Given the description of an element on the screen output the (x, y) to click on. 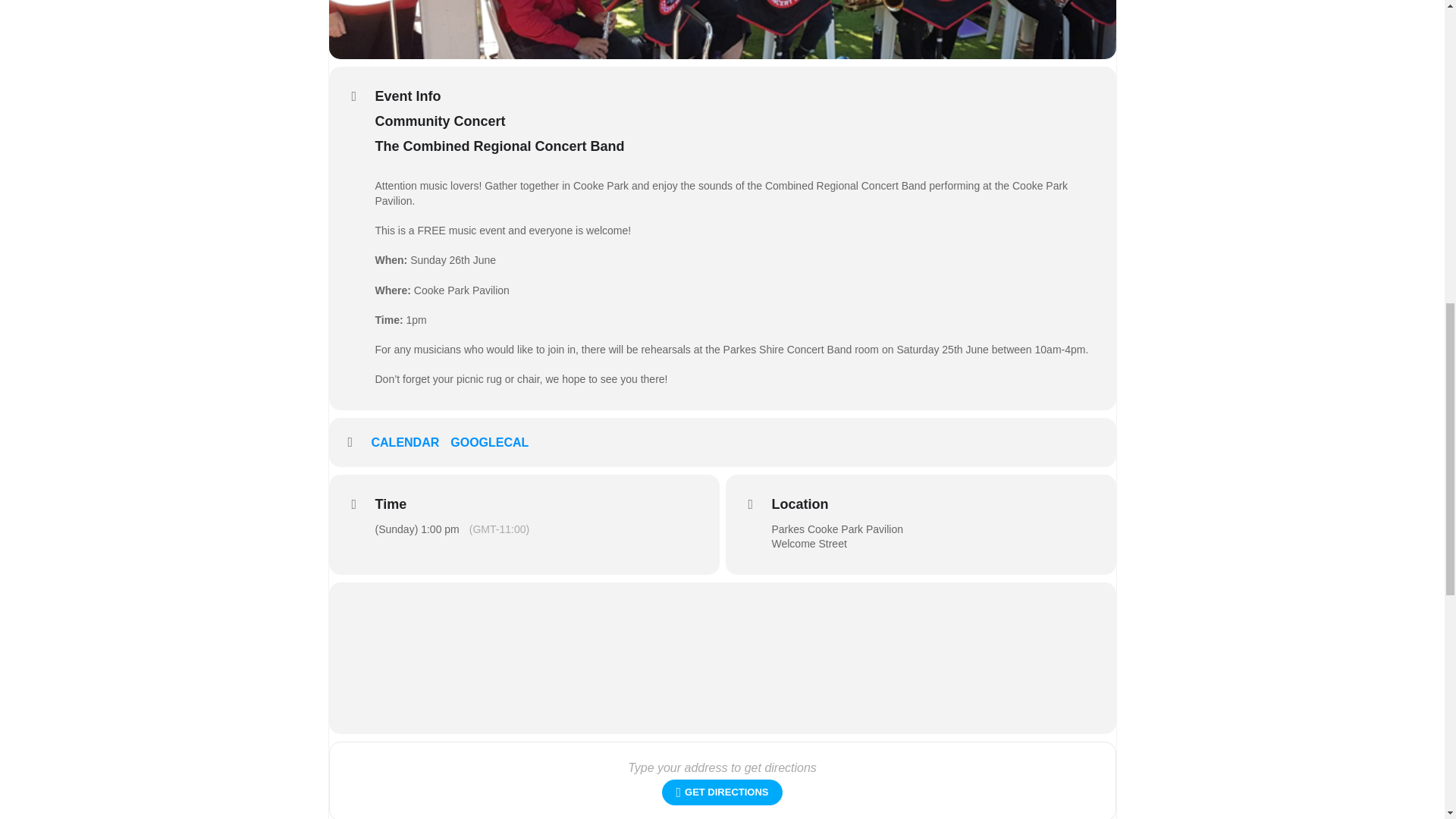
Add to google calendar (494, 442)
Click here to get directions (721, 792)
Add to your calendar (411, 442)
